Given the description of an element on the screen output the (x, y) to click on. 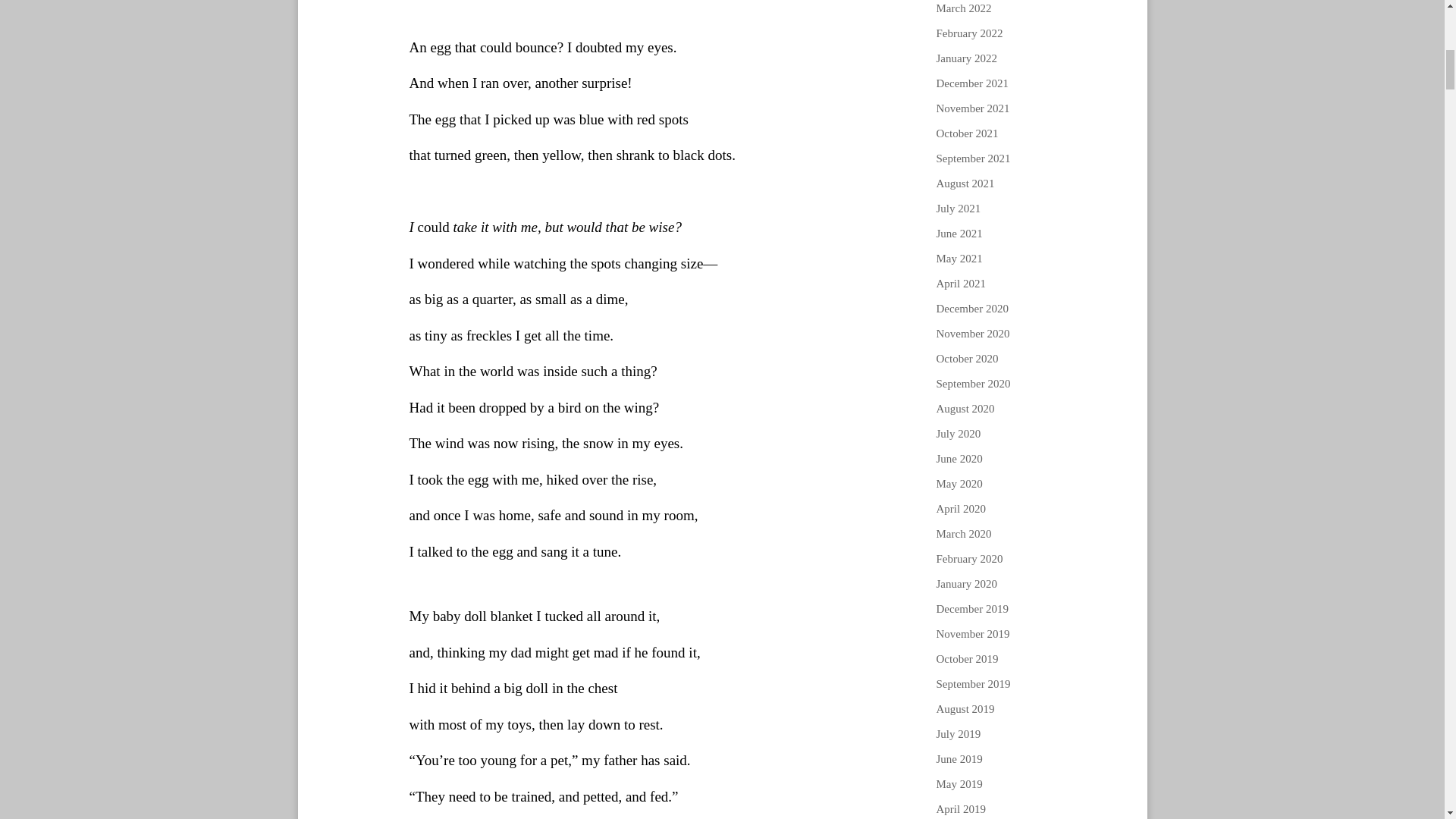
May 2021 (958, 258)
October 2021 (966, 133)
December 2021 (971, 82)
July 2021 (957, 208)
March 2022 (963, 8)
August 2021 (965, 183)
January 2022 (965, 58)
November 2021 (972, 108)
September 2021 (973, 158)
April 2021 (960, 283)
February 2022 (969, 33)
June 2021 (958, 233)
